Given the description of an element on the screen output the (x, y) to click on. 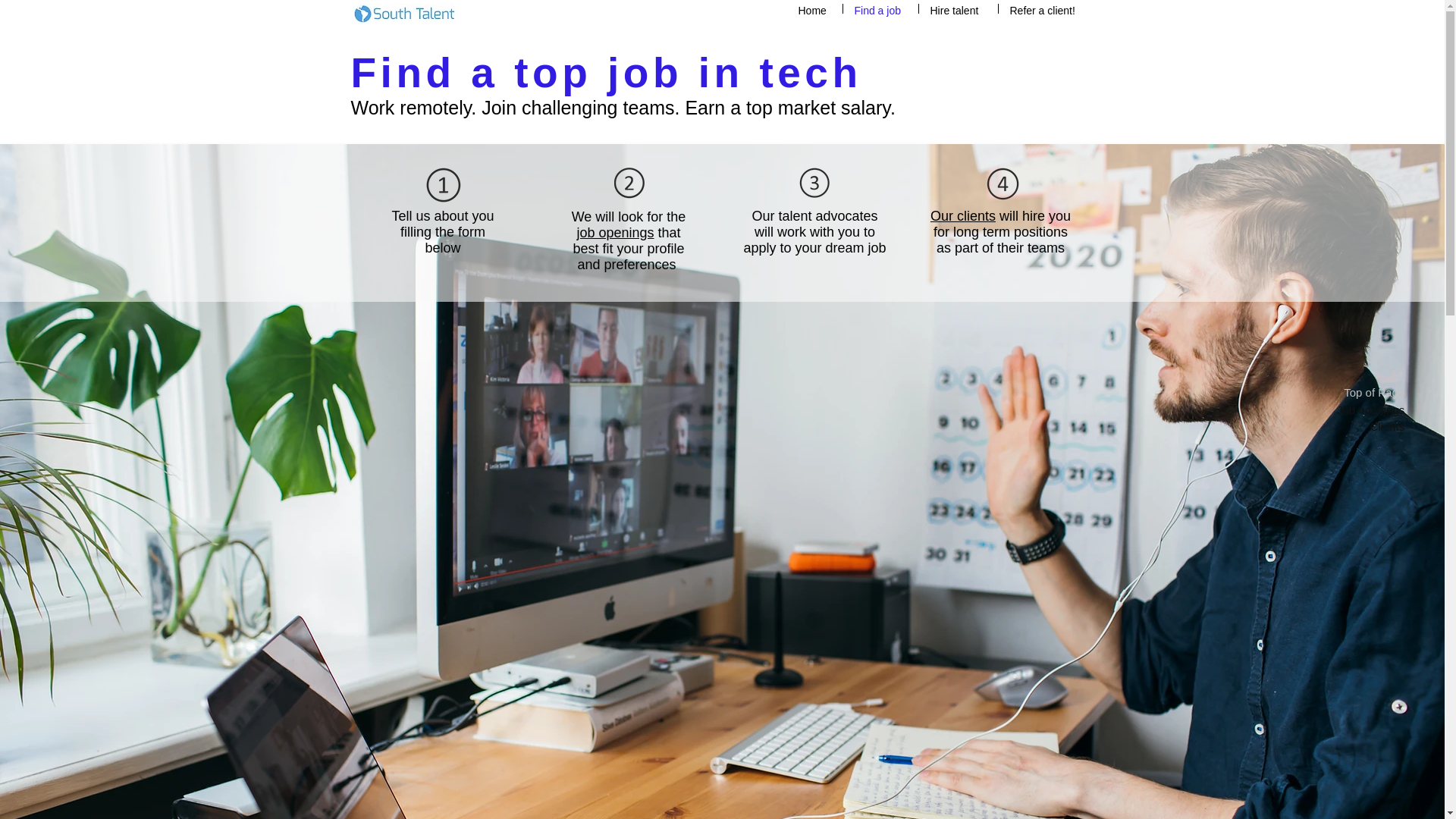
Our clients (962, 215)
Find a job (880, 8)
Hire talent (957, 8)
Job openings (1370, 409)
Clients (1370, 426)
job openings (614, 232)
Refer a client! (1045, 8)
Top of Page (1370, 392)
Home (815, 8)
logo-southtalent-opc1-chico.jpg (404, 14)
